Given the description of an element on the screen output the (x, y) to click on. 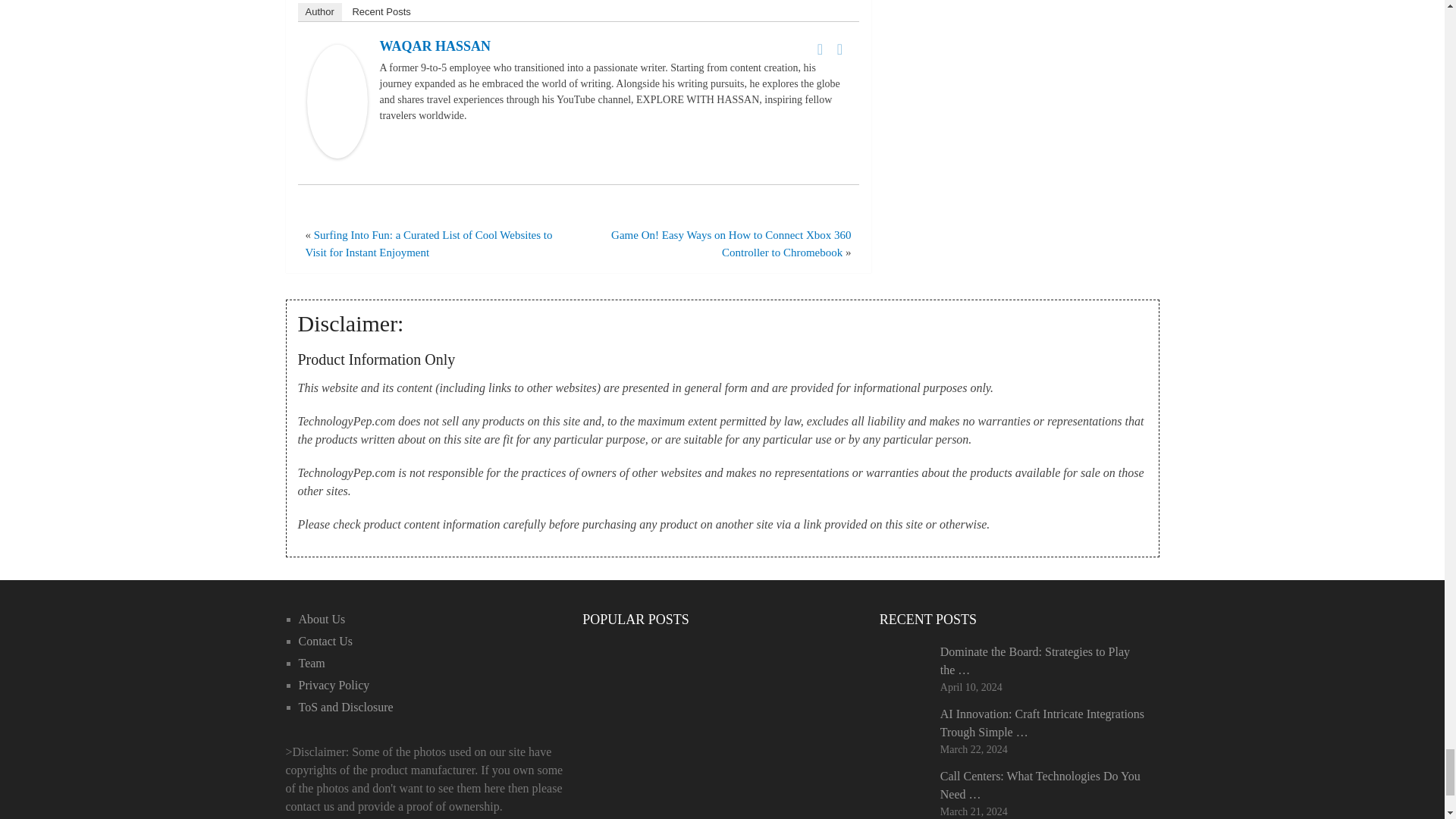
Twitter (839, 49)
Author (318, 12)
Facebook (819, 49)
WAQAR HASSAN (335, 153)
